Given the description of an element on the screen output the (x, y) to click on. 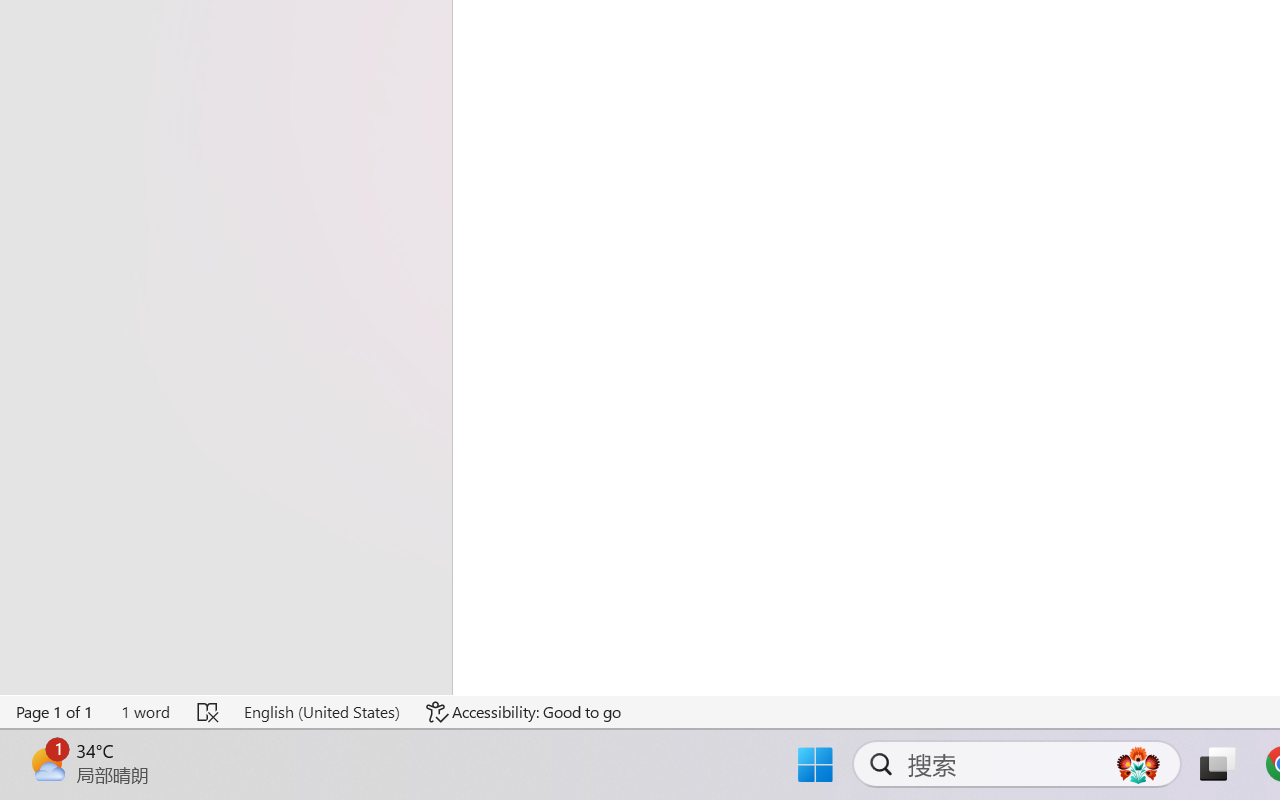
Spelling and Grammar Check Errors (208, 712)
